Given the description of an element on the screen output the (x, y) to click on. 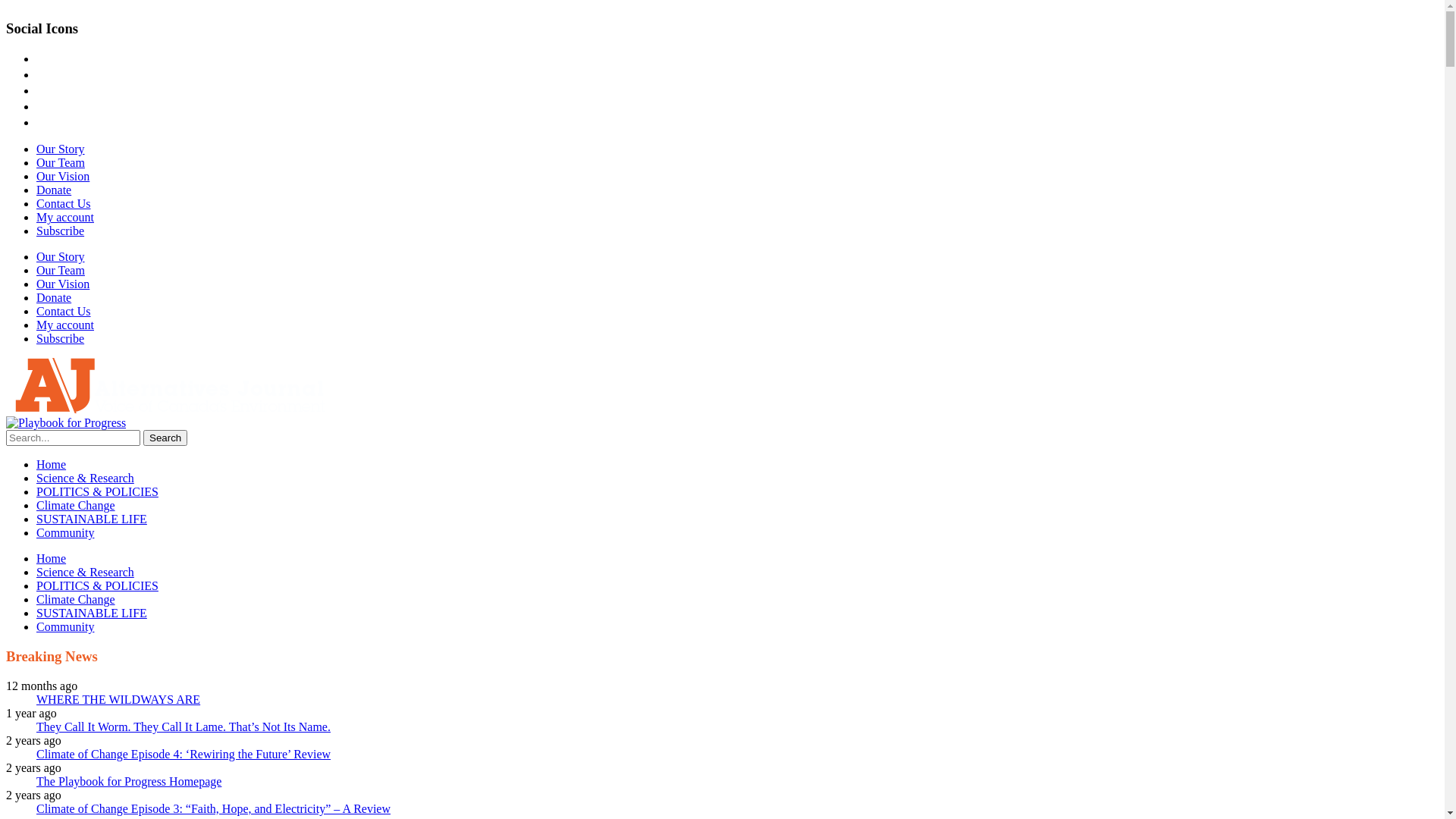
youtube Element type: text (42, 90)
The Playbook for Progress Homepage Element type: text (128, 781)
Community Element type: text (65, 626)
Our Story Element type: text (60, 256)
rss Element type: text (42, 122)
Our Vision Element type: text (62, 283)
Climate Change Element type: text (75, 599)
SUSTAINABLE LIFE Element type: text (91, 612)
Our Vision Element type: text (62, 175)
My account Element type: text (65, 324)
Our Team Element type: text (60, 162)
Donate Element type: text (53, 189)
Our Team Element type: text (60, 269)
WHERE THE WILDWAYS ARE Element type: text (118, 699)
SUSTAINABLE LIFE Element type: text (91, 518)
Search Element type: text (165, 437)
Subscribe Element type: text (60, 338)
Subscribe Element type: text (60, 230)
Community Element type: text (65, 532)
My account Element type: text (65, 216)
Home Element type: text (50, 464)
facebook Element type: text (42, 106)
instagram Element type: text (42, 74)
POLITICS & POLICIES Element type: text (97, 491)
Our Story Element type: text (60, 148)
Contact Us Element type: text (63, 203)
Science & Research Element type: text (85, 477)
twitter Element type: text (42, 58)
Home Element type: text (50, 558)
POLITICS & POLICIES Element type: text (97, 585)
Climate Change Element type: text (75, 504)
Contact Us Element type: text (63, 310)
Donate Element type: text (53, 297)
Science & Research Element type: text (85, 571)
